Given the description of an element on the screen output the (x, y) to click on. 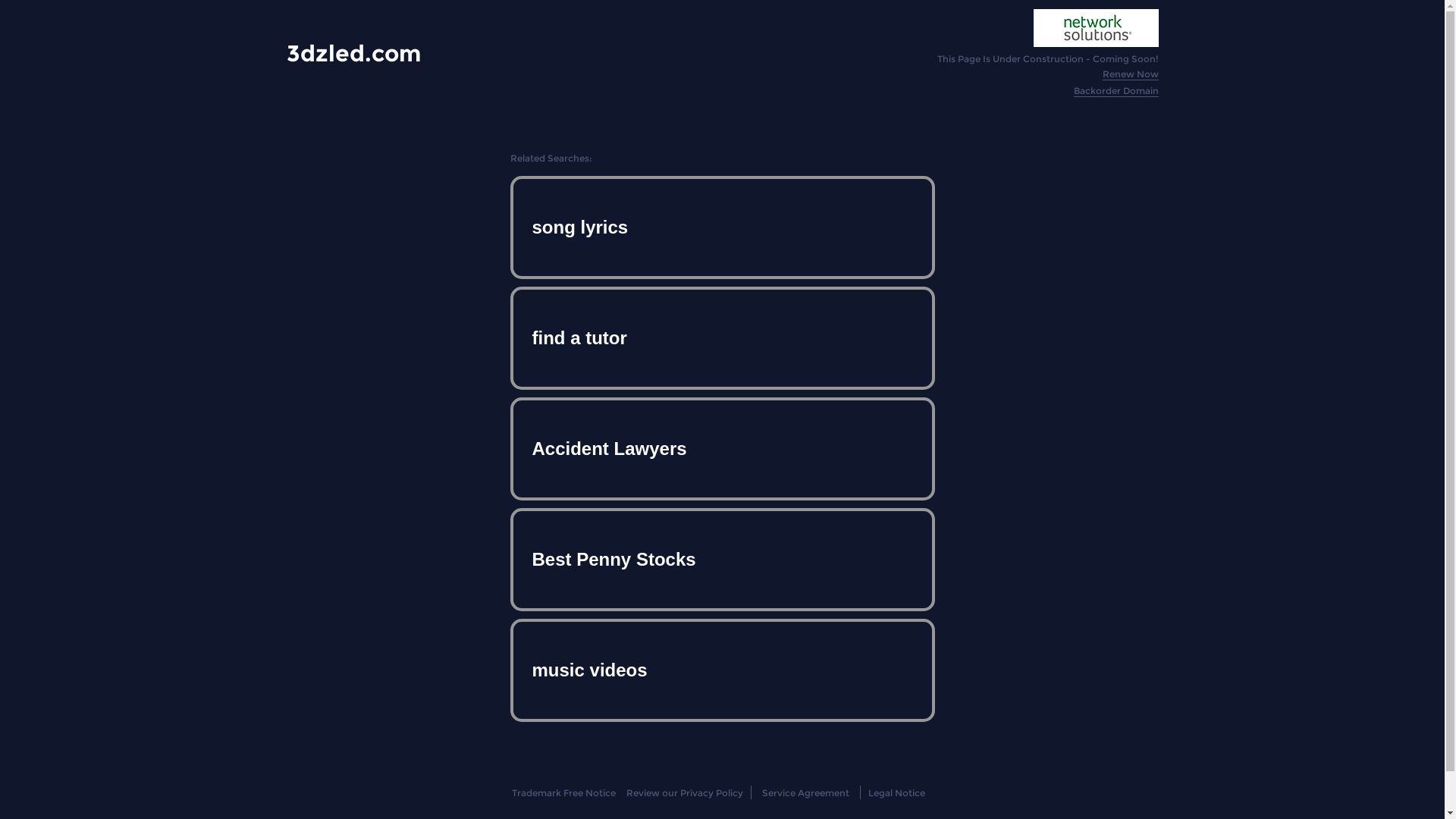
Legal Notice Element type: text (896, 792)
song lyrics Element type: text (721, 227)
3dzled.com Element type: text (353, 53)
Service Agreement Element type: text (805, 792)
Trademark Free Notice Element type: text (563, 792)
Renew Now Element type: text (1130, 74)
Best Penny Stocks Element type: text (721, 559)
Accident Lawyers Element type: text (721, 448)
music videos Element type: text (721, 669)
Backorder Domain Element type: text (1115, 90)
Review our Privacy Policy Element type: text (684, 792)
find a tutor Element type: text (721, 337)
